Given the description of an element on the screen output the (x, y) to click on. 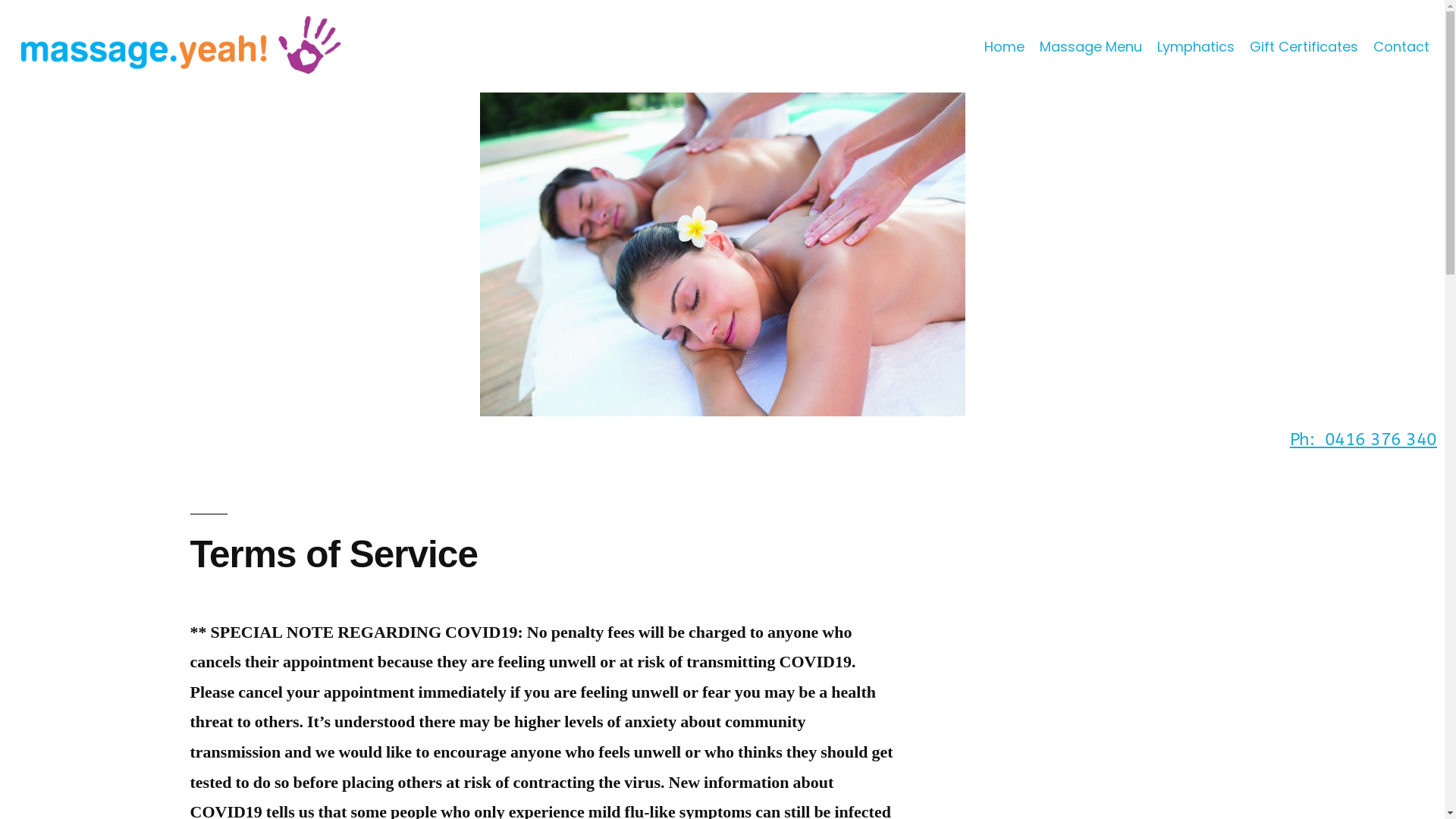
Gift Certificates Element type: text (1303, 46)
Lymphatics Element type: text (1195, 46)
Home Element type: text (1004, 46)
Skip to content Element type: text (0, 0)
massageyeah-logo-long Element type: hover (180, 46)
Contact Element type: text (1401, 46)
Ph:  0416 376 340 Element type: text (1363, 439)
Massage Menu Element type: text (1090, 46)
